Given the description of an element on the screen output the (x, y) to click on. 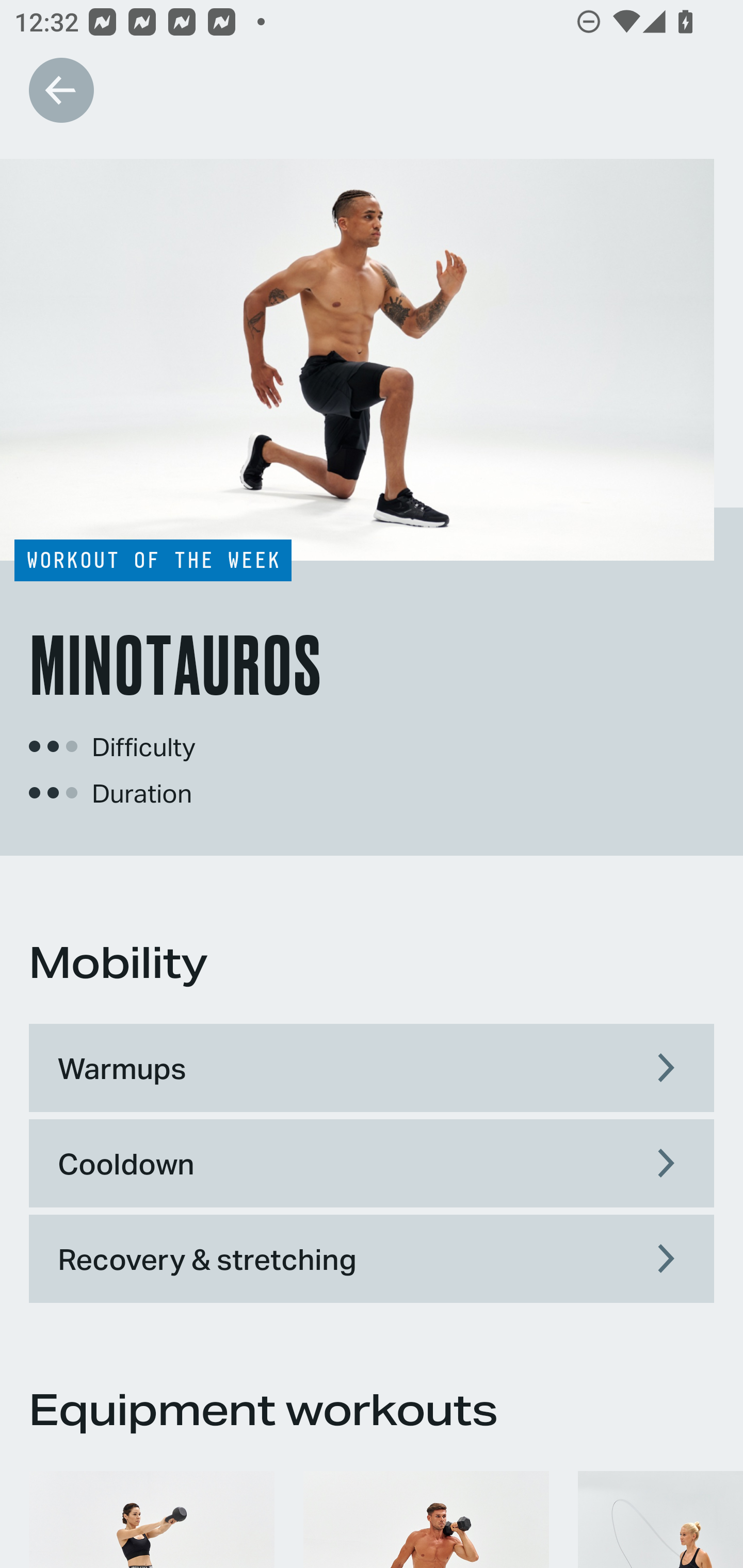
Go back (60, 90)
WORKOUT OF THE WEEK MINOTAUROS Difficulty Duration (371, 507)
Warmups (371, 1067)
Cooldown (371, 1163)
Recovery & stretching (371, 1259)
